Given the description of an element on the screen output the (x, y) to click on. 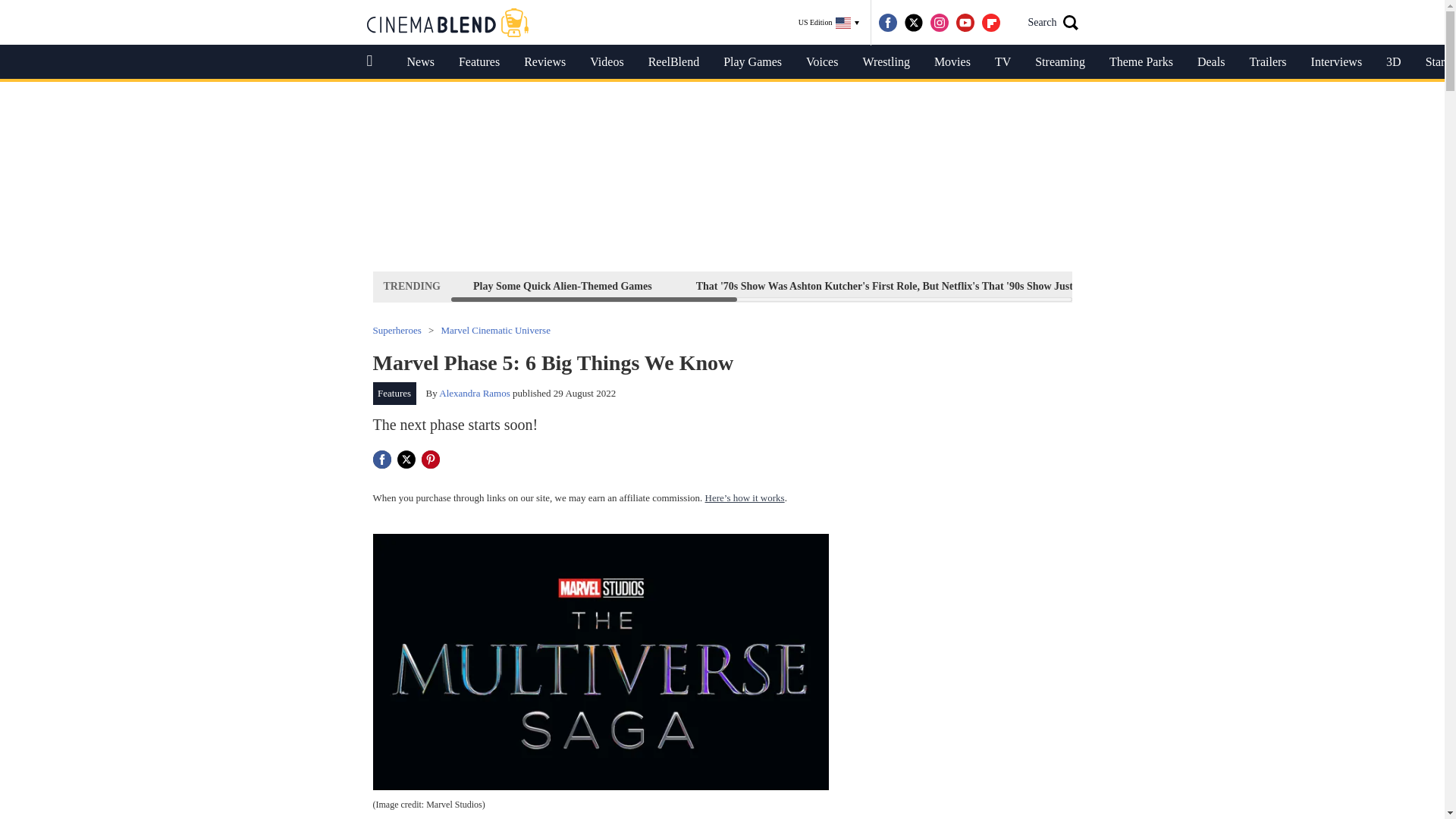
Streaming (1060, 61)
Features (479, 61)
US Edition (828, 22)
Videos (606, 61)
ReelBlend (673, 61)
Movies (951, 61)
Trailers (1267, 61)
Play Games (752, 61)
Deals (1210, 61)
Superheroes (397, 329)
